Given the description of an element on the screen output the (x, y) to click on. 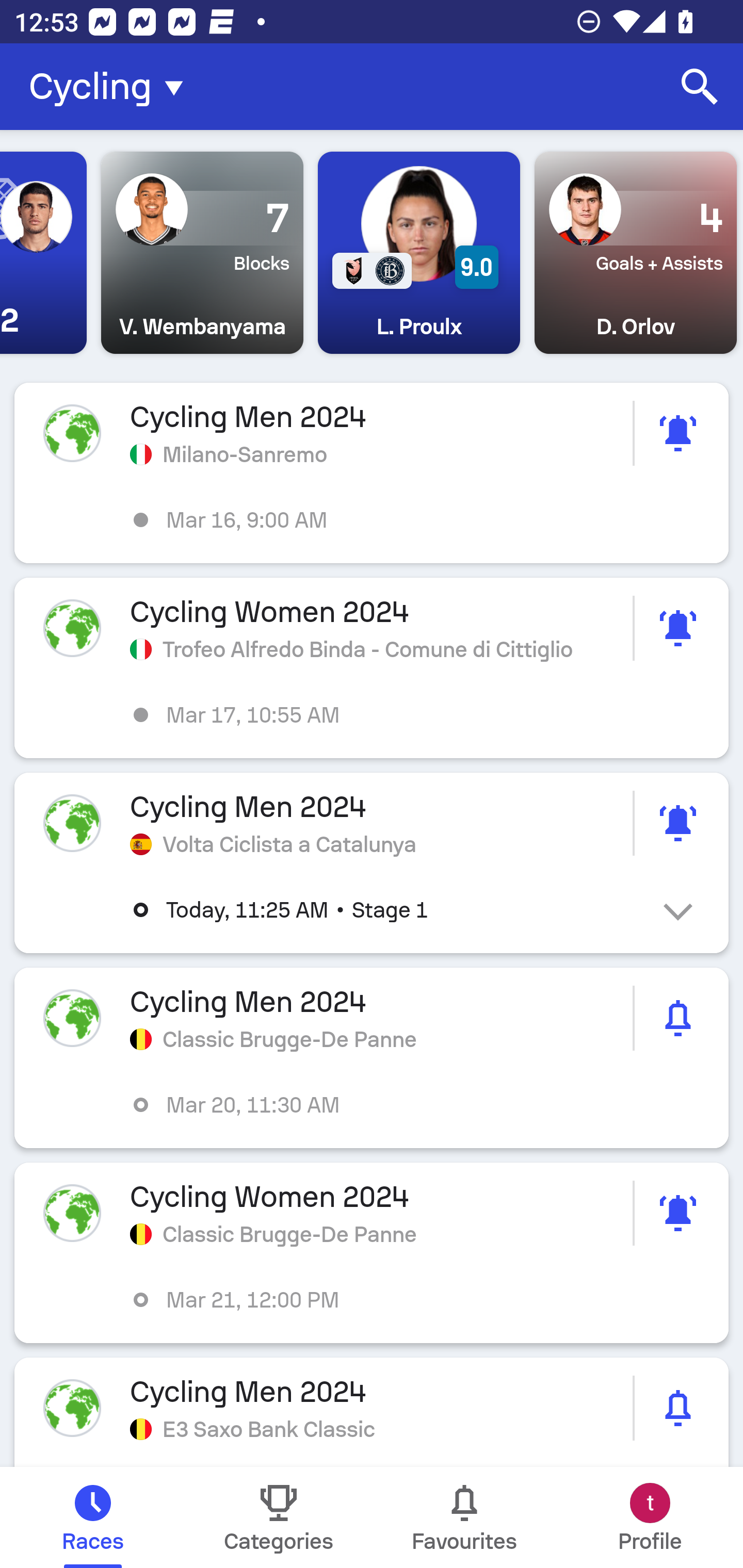
Cycling (111, 86)
Search (699, 86)
0 - 2 (43, 253)
9.0 L. Proulx (419, 253)
Today, 11:25 AM • Stage 1 (385, 910)
Cycling Men 2024 E3 Saxo Bank Classic picture (371, 1412)
Categories (278, 1517)
Favourites (464, 1517)
Profile (650, 1517)
